Given the description of an element on the screen output the (x, y) to click on. 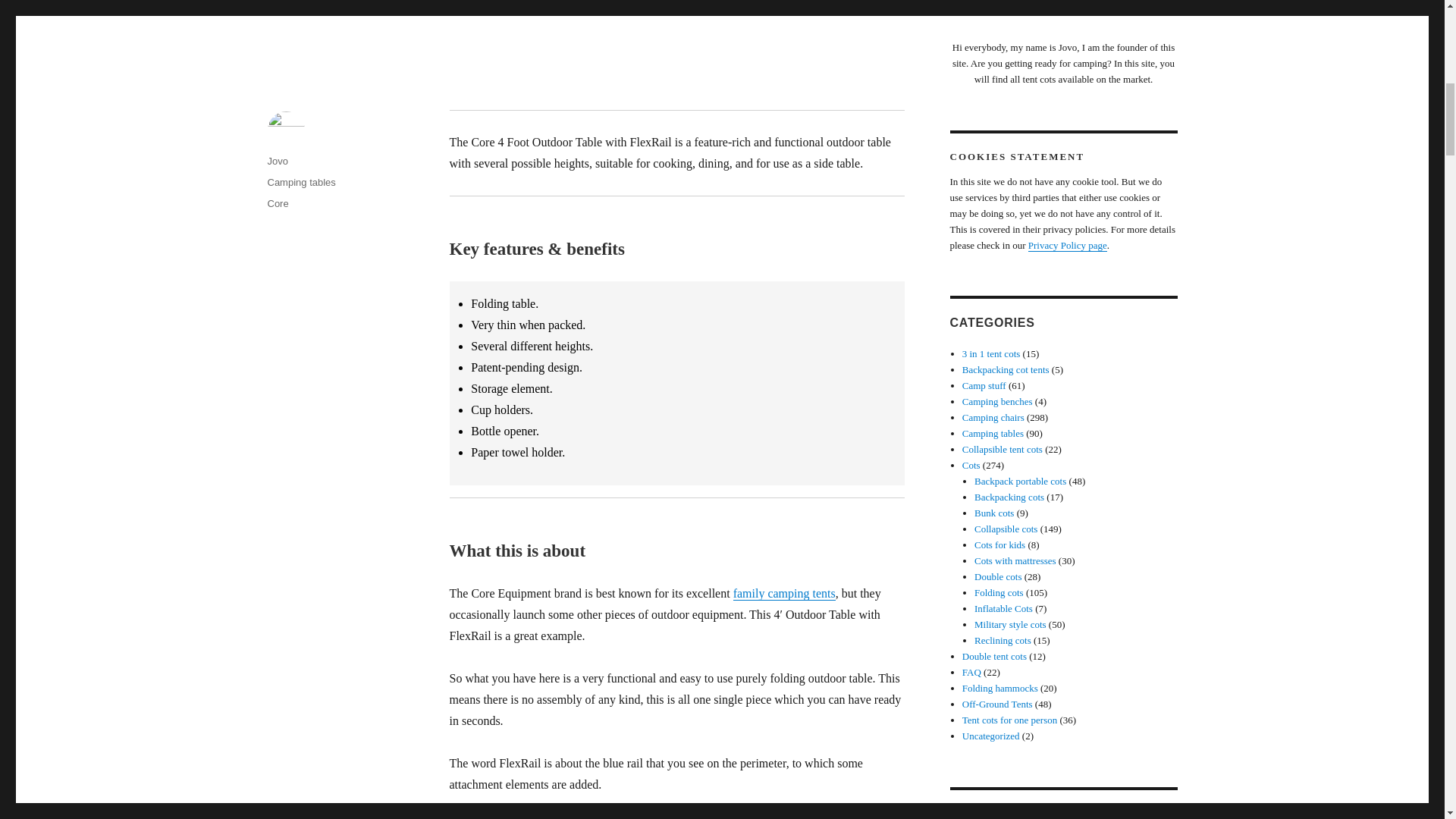
family camping tents (784, 593)
Jovo (276, 161)
Core (277, 203)
Camping tables (300, 182)
